Given the description of an element on the screen output the (x, y) to click on. 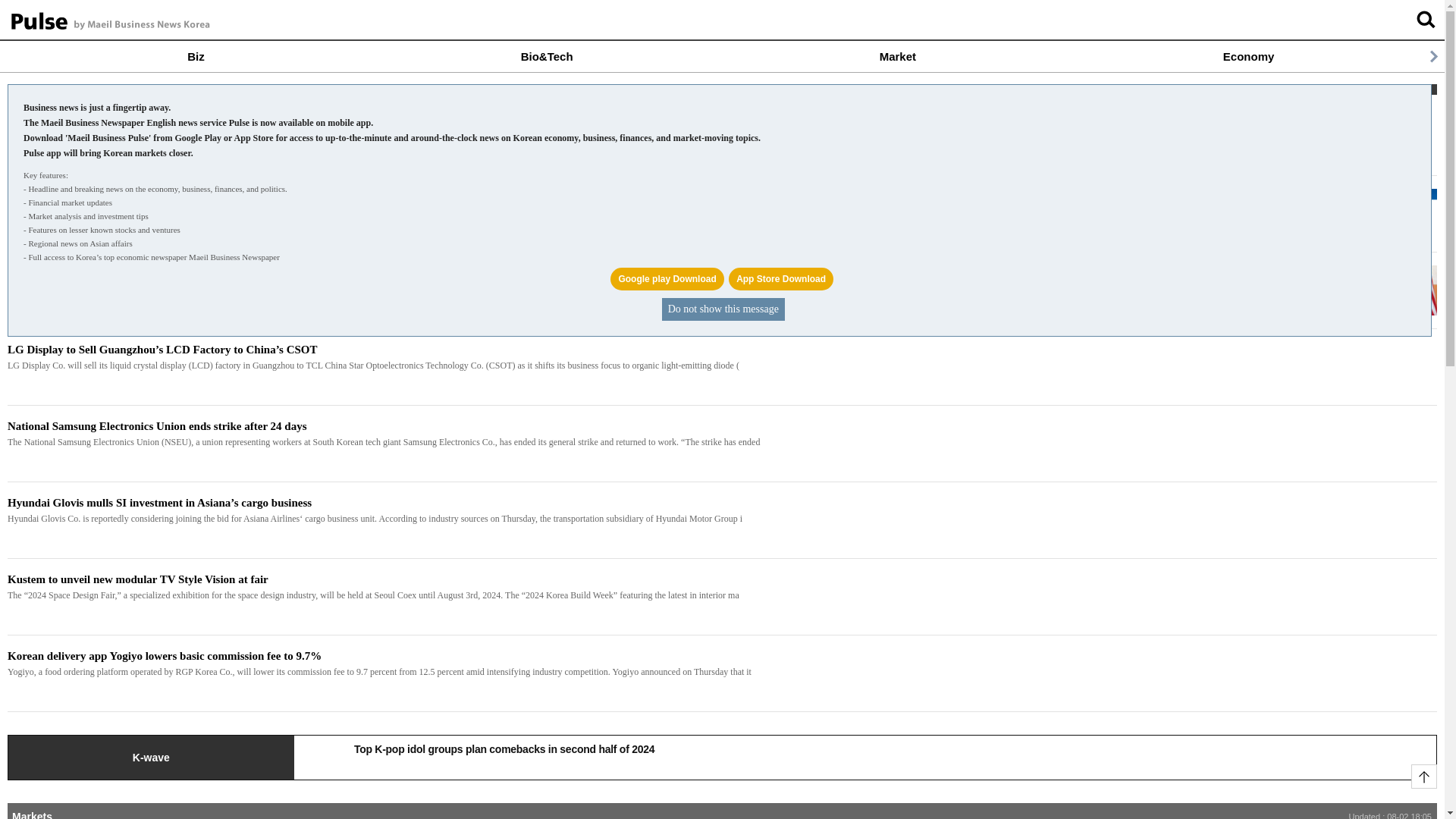
Biz (196, 56)
App Store Download (780, 278)
Do not show this message (723, 309)
Market (897, 56)
Economy (1249, 56)
Google play Download (666, 278)
K-wave (151, 757)
